Given the description of an element on the screen output the (x, y) to click on. 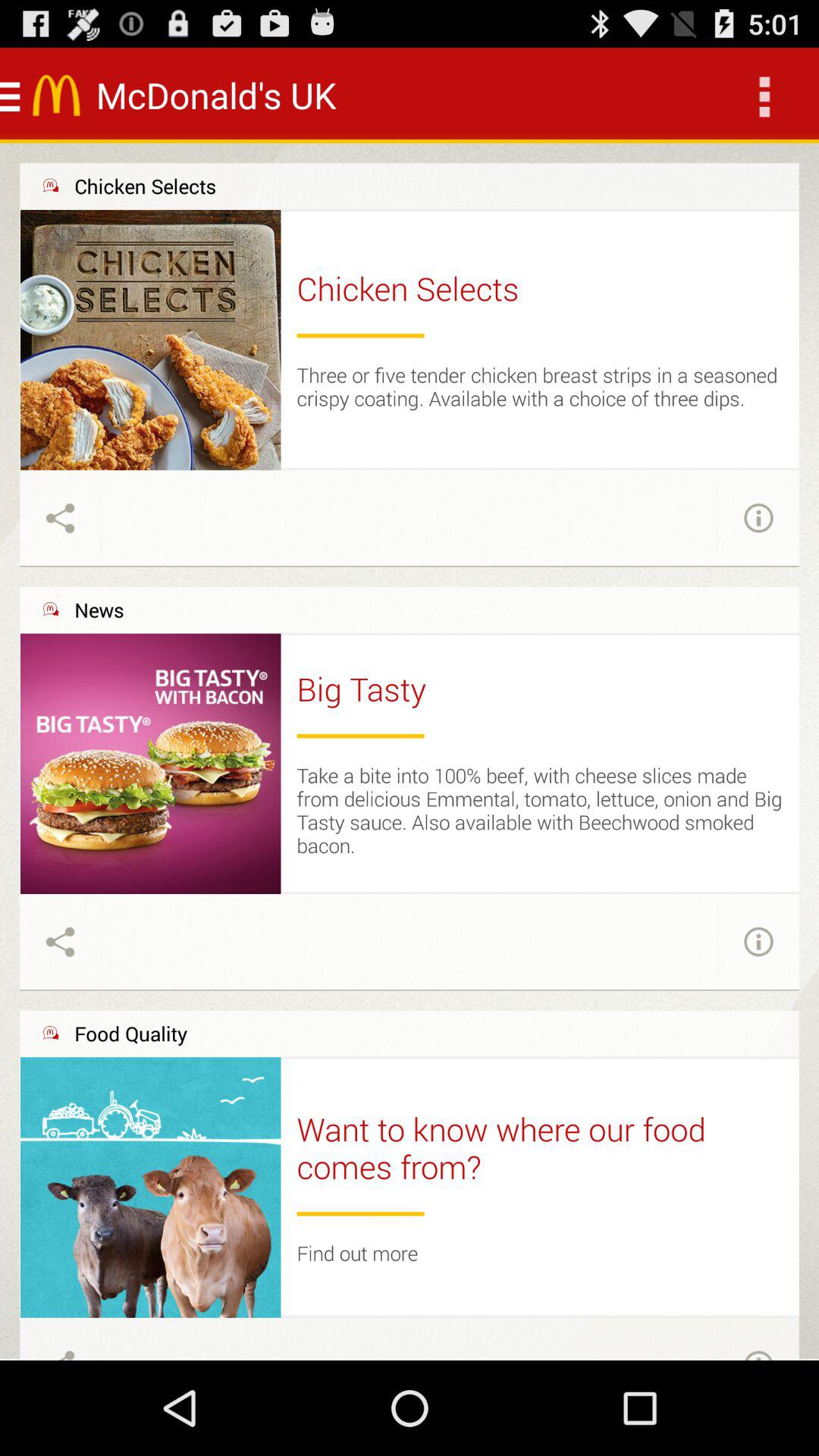
turn on the item above the three or five icon (360, 335)
